Given the description of an element on the screen output the (x, y) to click on. 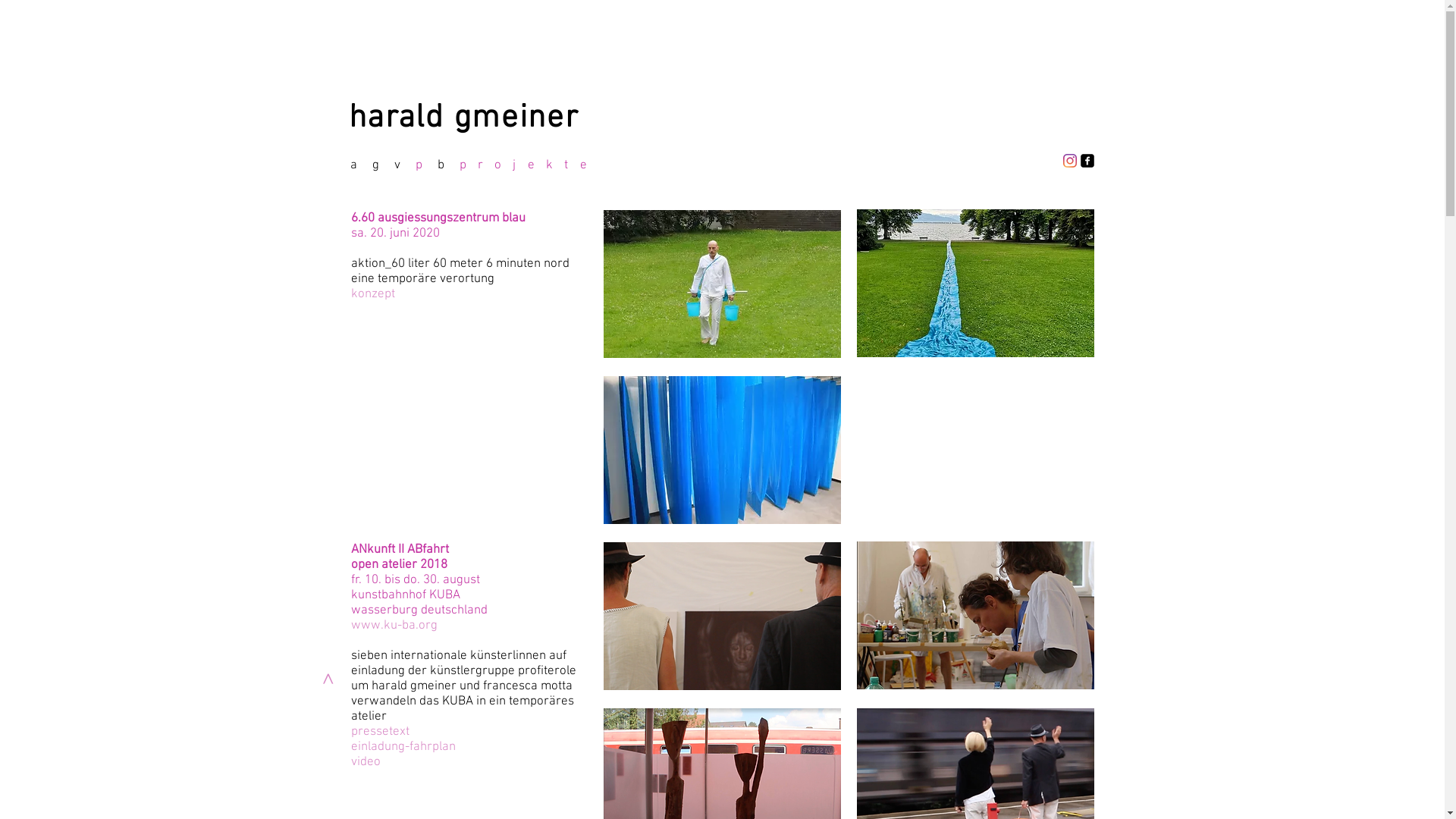
rosa_weg.jpg Element type: hover (975, 283)
g Element type: text (374, 165)
v Element type: text (396, 165)
^ Element type: text (328, 684)
p Element type: text (418, 165)
bezeichnung-baf2.jpg Element type: hover (721, 616)
harald gmeiner Element type: text (463, 118)
www.ku-ba.org Element type: text (393, 625)
tuch_rolle_5.55.jpg Element type: hover (721, 283)
einladung-fahrplan Element type: text (402, 746)
konzept Element type: text (372, 293)
pressetext Element type: text (379, 731)
bezeichnung-baf4.jpg Element type: hover (975, 615)
a Element type: text (353, 165)
video Element type: text (364, 761)
b Element type: text (440, 165)
tuch_5.55.jpg Element type: hover (721, 450)
